Given the description of an element on the screen output the (x, y) to click on. 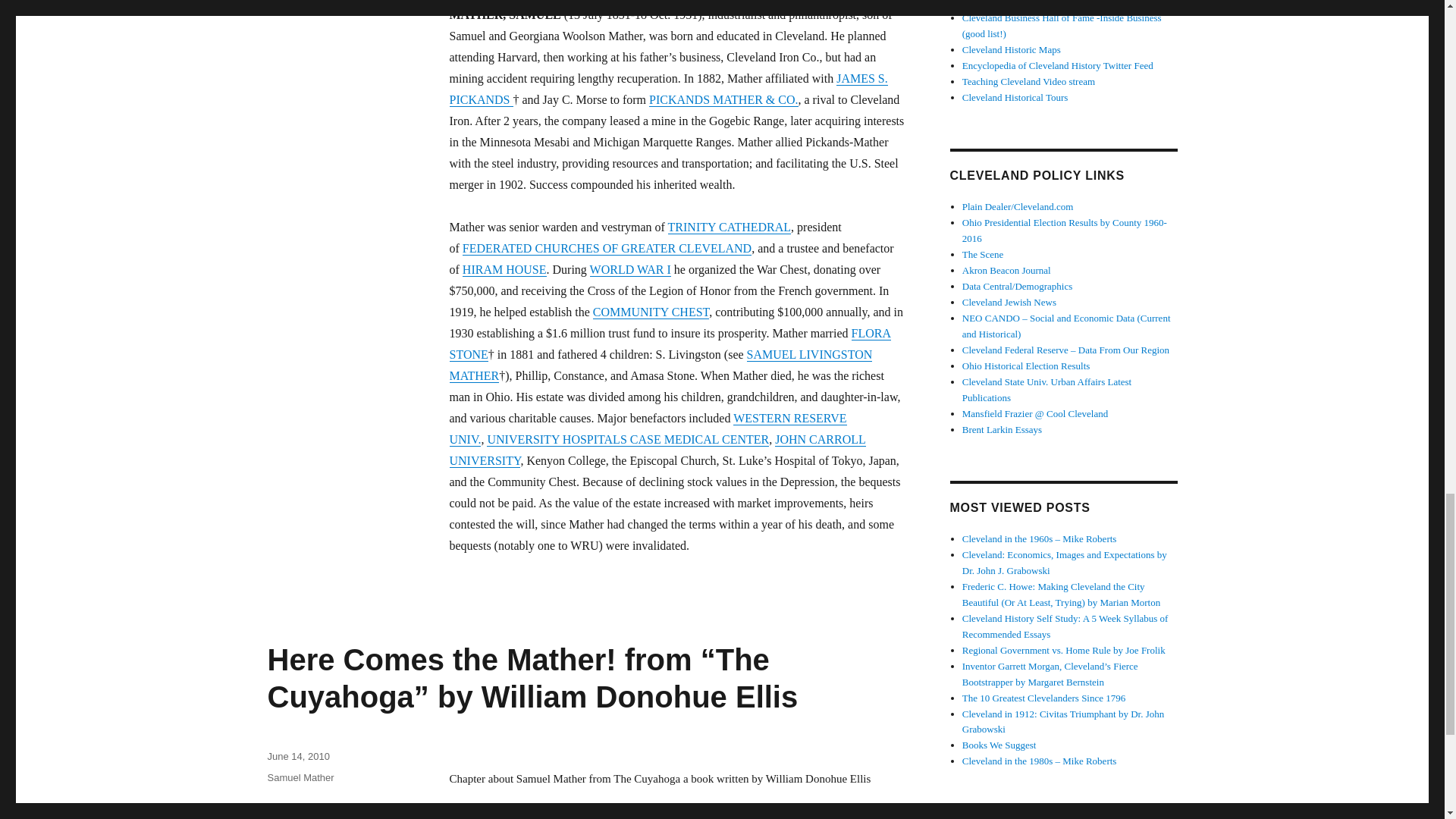
SAMUEL LIVINGSTON MATHER (660, 365)
WESTERN RESERVE UNIV. (646, 428)
WORLD WAR I (630, 269)
UNIVERSITY HOSPITALS CASE MEDICAL CENTER (627, 439)
HIRAM HOUSE (505, 269)
JAMES S. PICKANDS (667, 89)
COMMUNITY CHEST (650, 311)
FEDERATED CHURCHES OF GREATER CLEVELAND (607, 247)
JOHN CARROLL UNIVERSITY (656, 449)
FLORA STONE (668, 343)
